Given the description of an element on the screen output the (x, y) to click on. 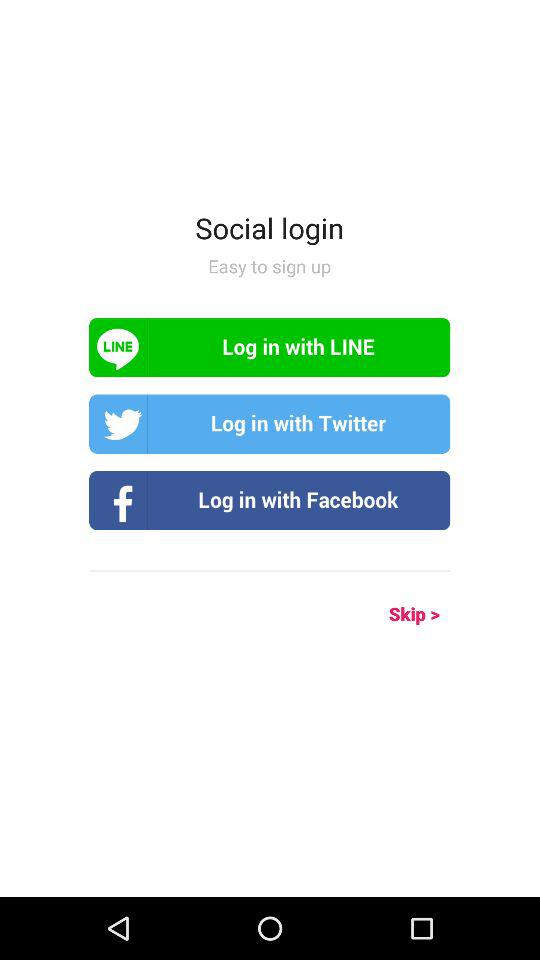
log in with line (269, 347)
